Given the description of an element on the screen output the (x, y) to click on. 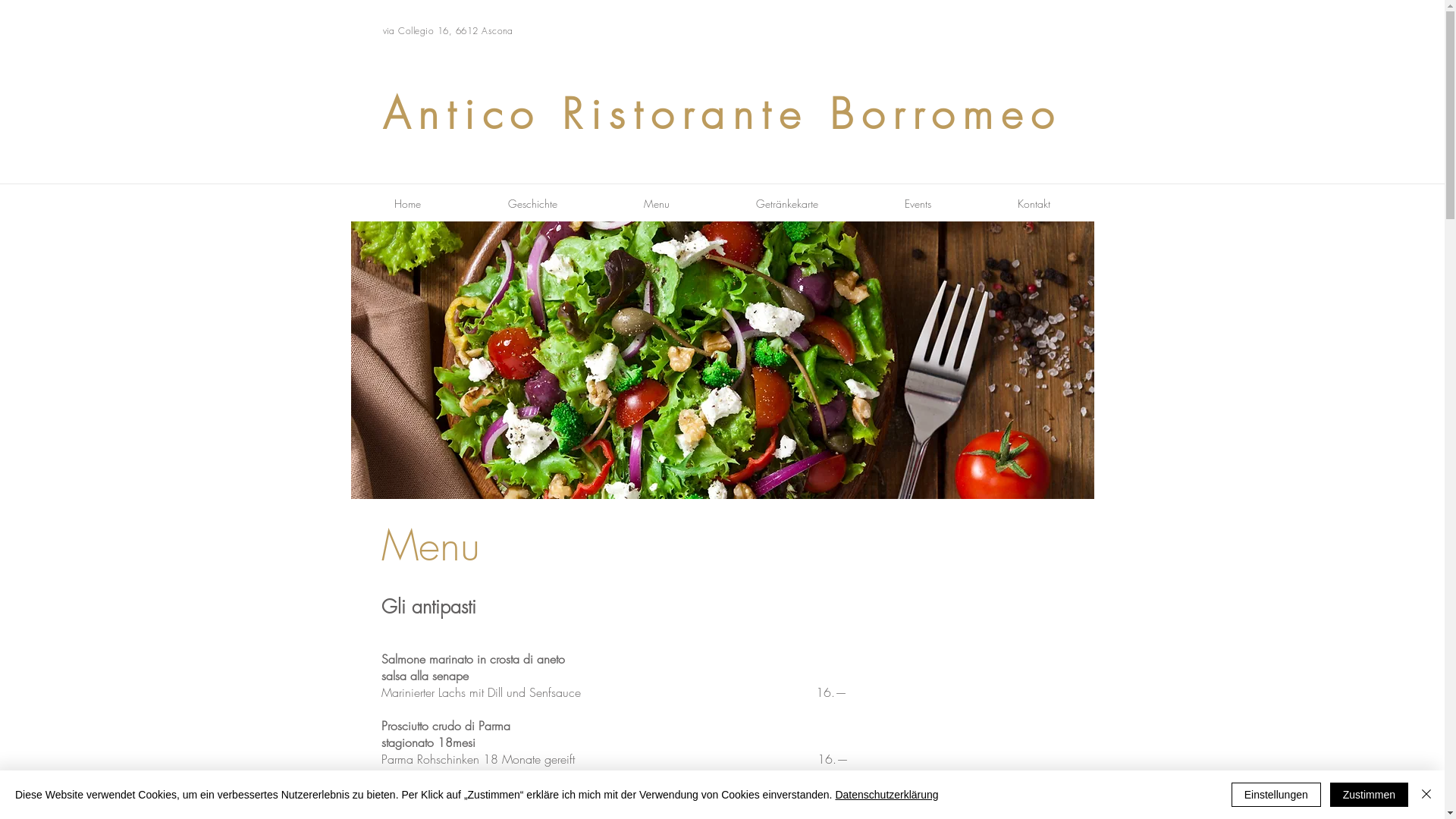
Restaurant Social Bar Element type: hover (1049, 30)
Antico Ristorante Borromeo Element type: text (721, 113)
Menu Element type: text (656, 203)
Zustimmen Element type: text (1369, 794)
Geschichte Element type: text (531, 203)
Kontakt Element type: text (1032, 203)
Einstellungen Element type: text (1276, 794)
Events Element type: text (917, 203)
Home Element type: text (407, 203)
